Given the description of an element on the screen output the (x, y) to click on. 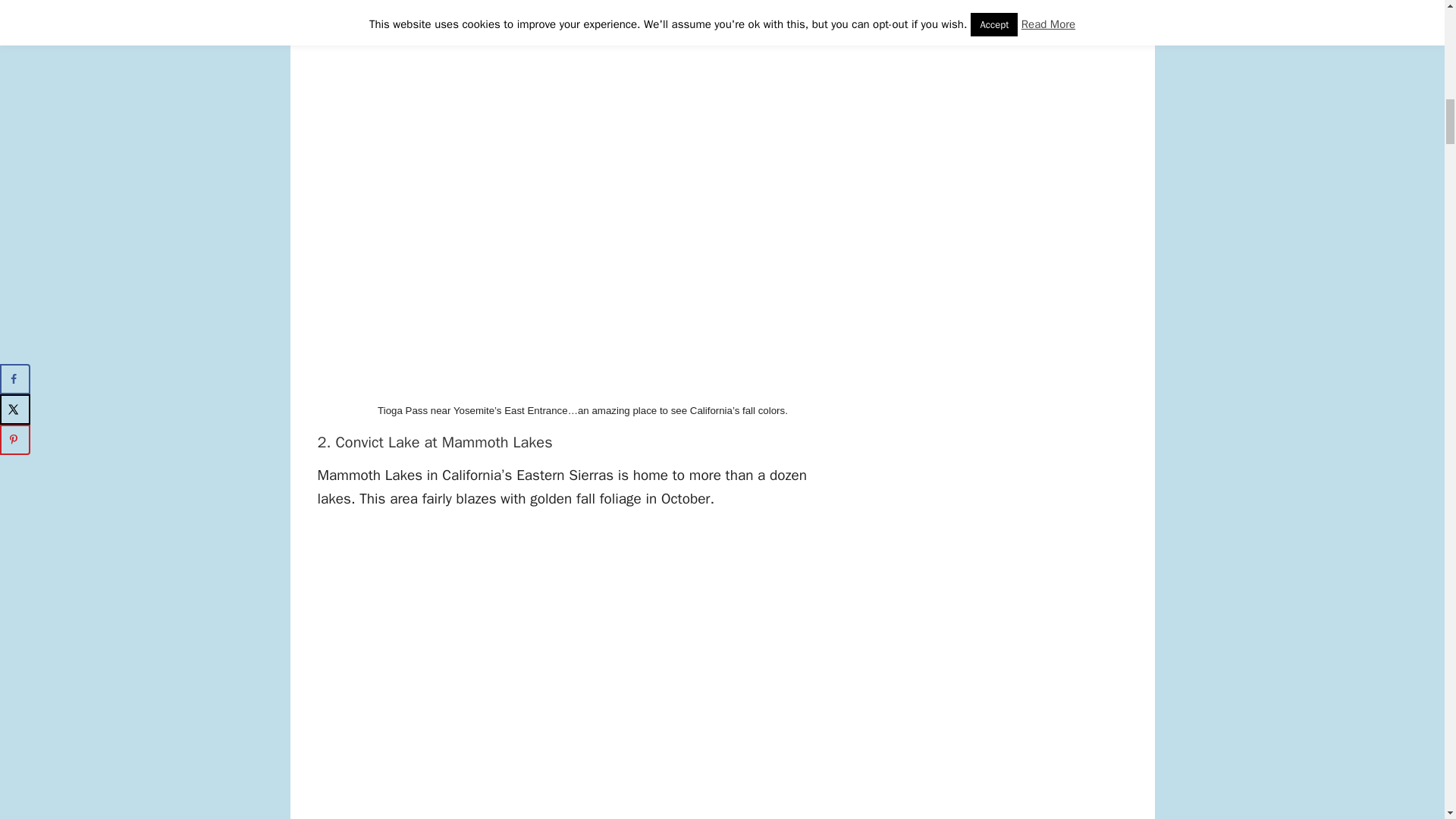
CA fall colors - Yosemite Sage cabin (466, 5)
